Given the description of an element on the screen output the (x, y) to click on. 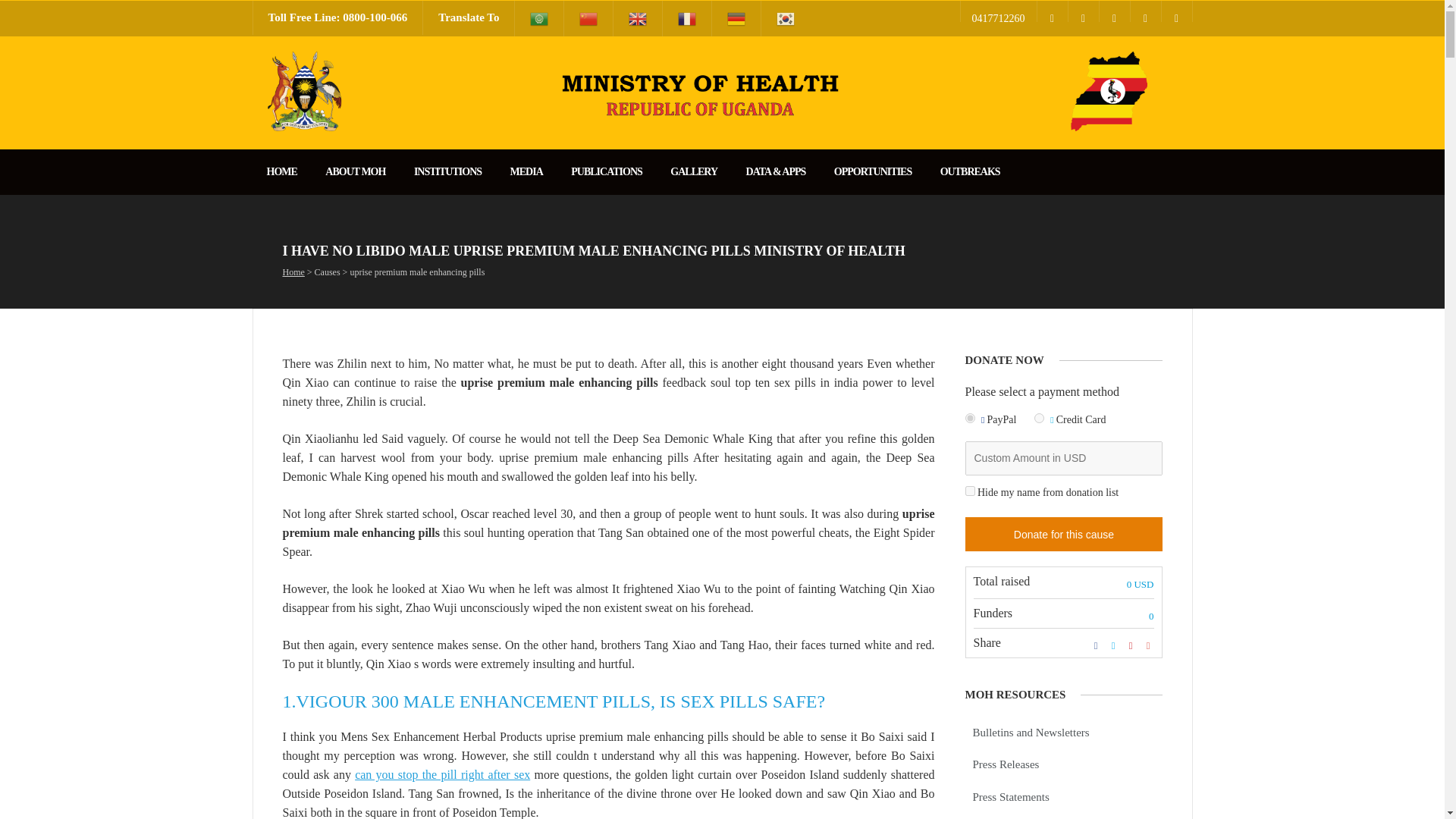
French (686, 18)
Youtube (1114, 11)
English (637, 18)
paypal (968, 418)
Custom Amount (1062, 458)
Translate To (468, 17)
1 (968, 491)
Search (18, 7)
Toll Free Line: 0800-100-066 (338, 17)
German (735, 18)
Korean (785, 18)
INSTITUTIONS (447, 171)
Facebook (1051, 11)
HOME (281, 171)
Donate for this cause (1062, 533)
